Given the description of an element on the screen output the (x, y) to click on. 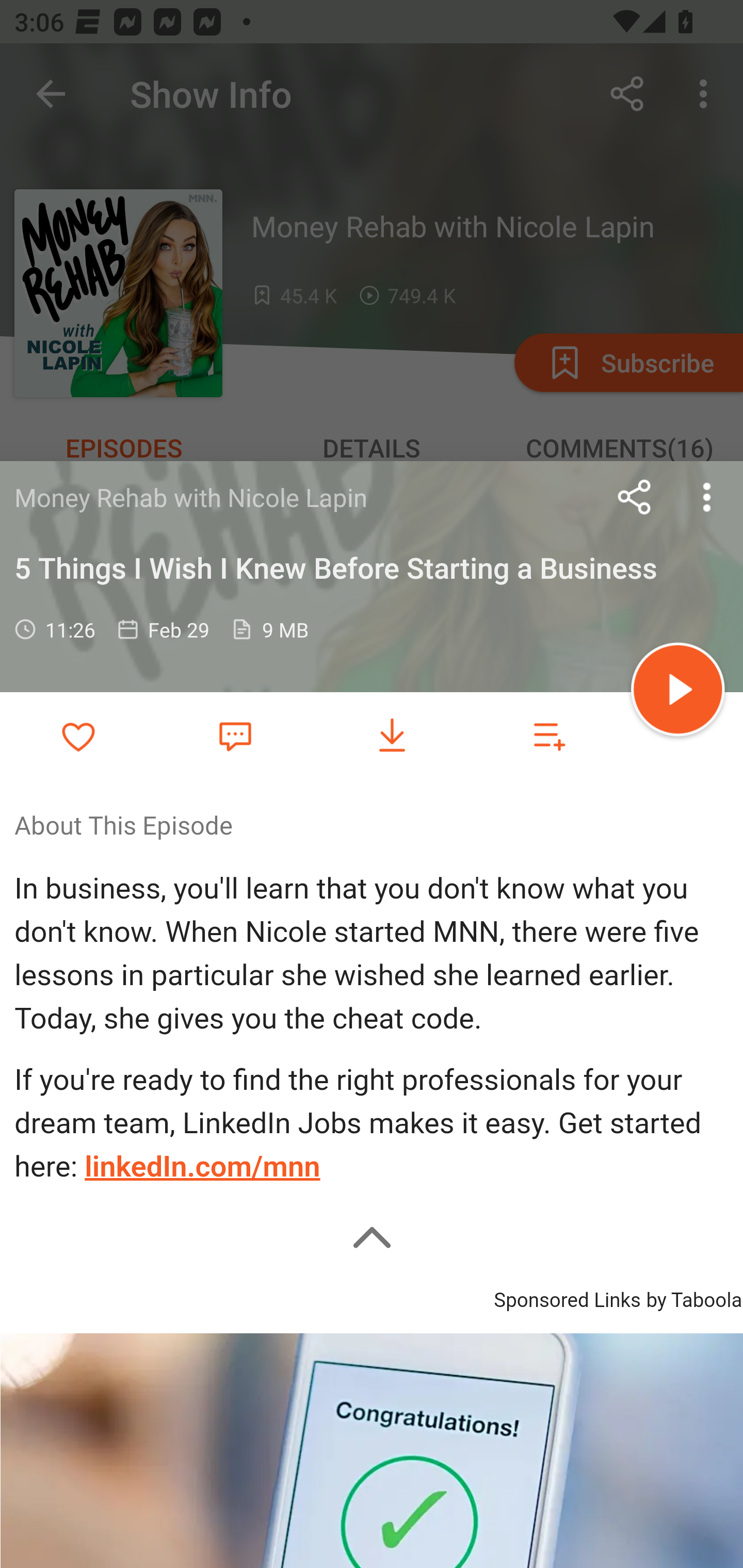
Share (634, 496)
more options (706, 496)
Play (677, 692)
Favorite (234, 735)
Add to Favorites (78, 735)
Download (391, 735)
Add to playlist (548, 735)
linkedIn.com/mnn (202, 1167)
Sponsored Links (566, 1295)
by Taboola (693, 1295)
Need Cash? Secure Personal Loans Instantly (371, 1450)
